Given the description of an element on the screen output the (x, y) to click on. 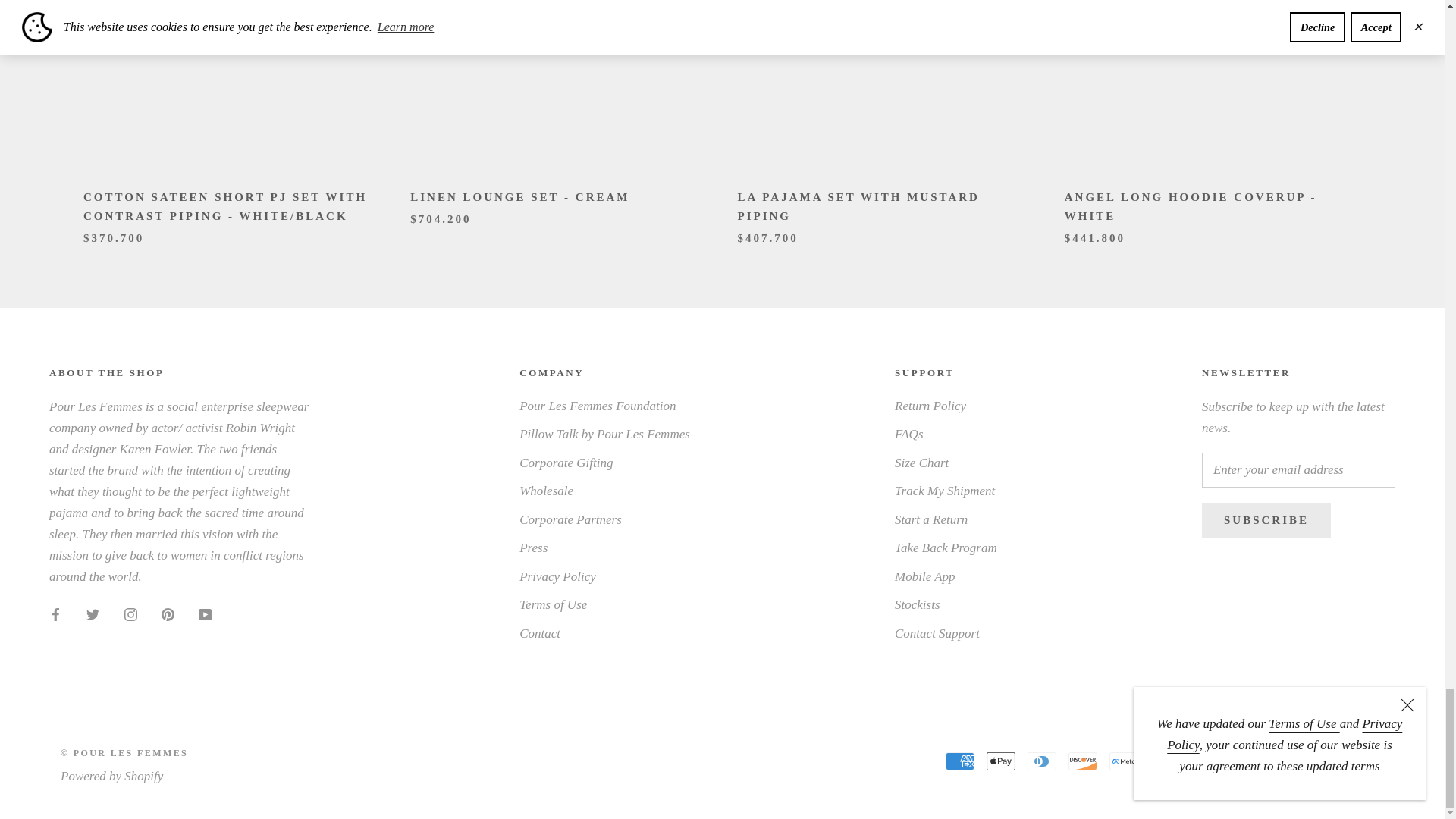
Meta Pay (1123, 761)
Shop Pay (1286, 761)
Google Pay (1164, 761)
Mastercard (1205, 761)
PayPal (1245, 761)
Diners Club (1042, 761)
Venmo (1328, 761)
Apple Pay (1000, 761)
American Express (959, 761)
Discover (1082, 761)
